Given the description of an element on the screen output the (x, y) to click on. 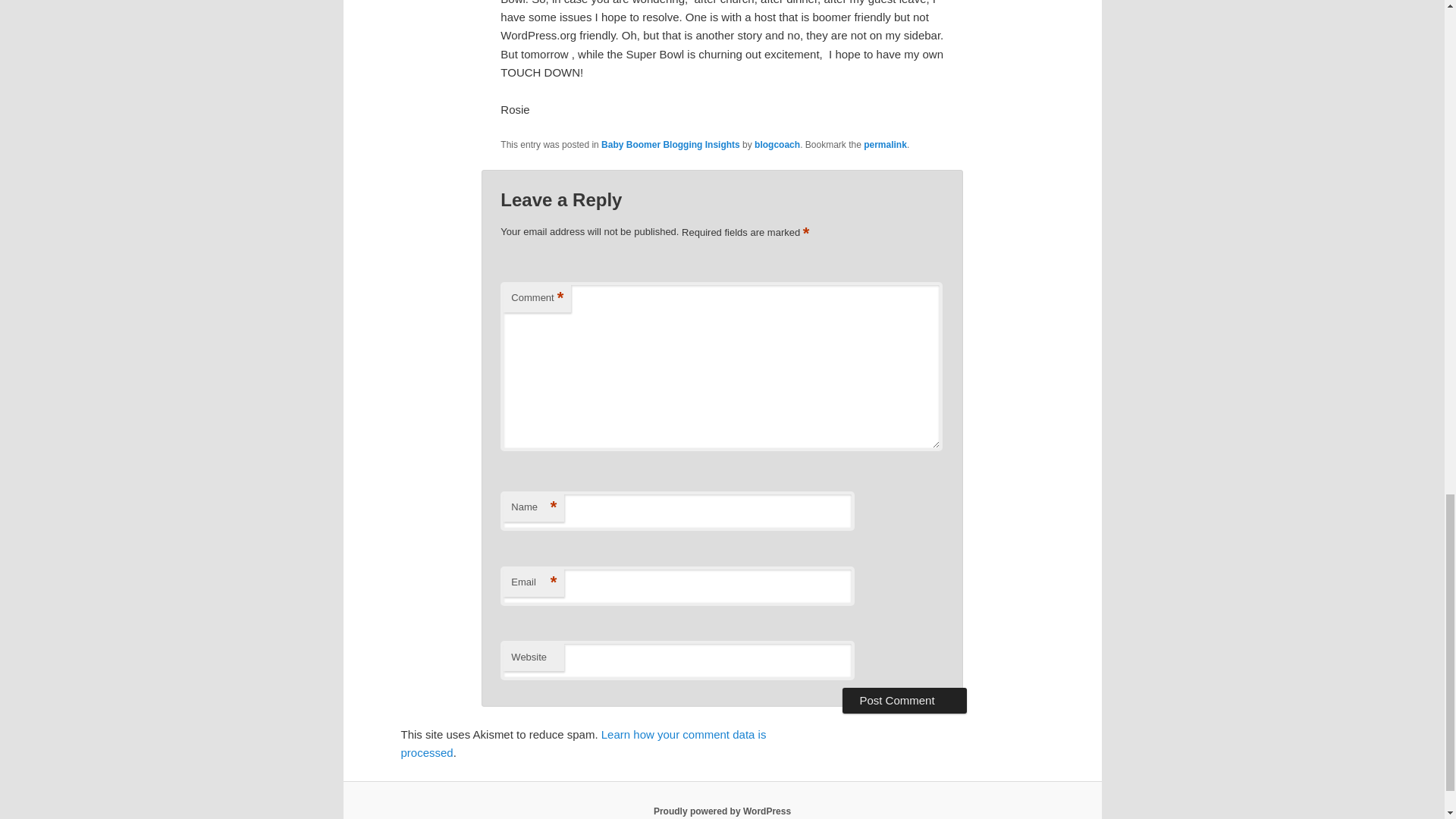
Post Comment (904, 700)
Baby Boomer Blogging Insights (670, 144)
permalink (885, 144)
blogcoach (776, 144)
Proudly powered by WordPress (721, 810)
Post Comment (904, 700)
Learn how your comment data is processed (582, 743)
Semantic Personal Publishing Platform (721, 810)
